Given the description of an element on the screen output the (x, y) to click on. 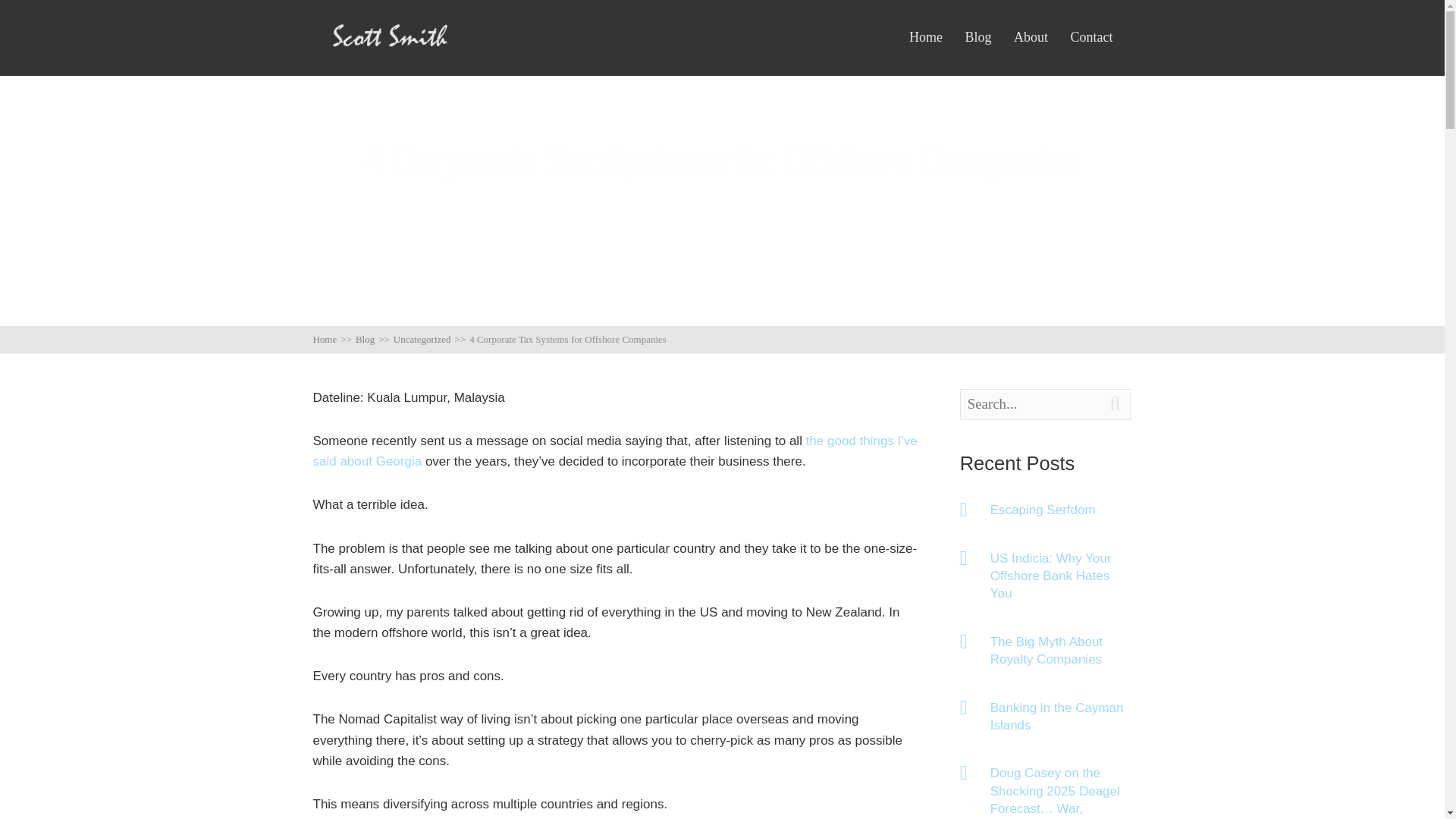
Blog (977, 37)
Escaping Serfdom (1061, 509)
The Big Myth About Royalty Companies (1061, 651)
About (1030, 37)
US Indicia: Why Your Offshore Bank Hates You (1061, 575)
Home (925, 37)
Banking in the Cayman Islands (1061, 716)
Contact (1091, 37)
